Given the description of an element on the screen output the (x, y) to click on. 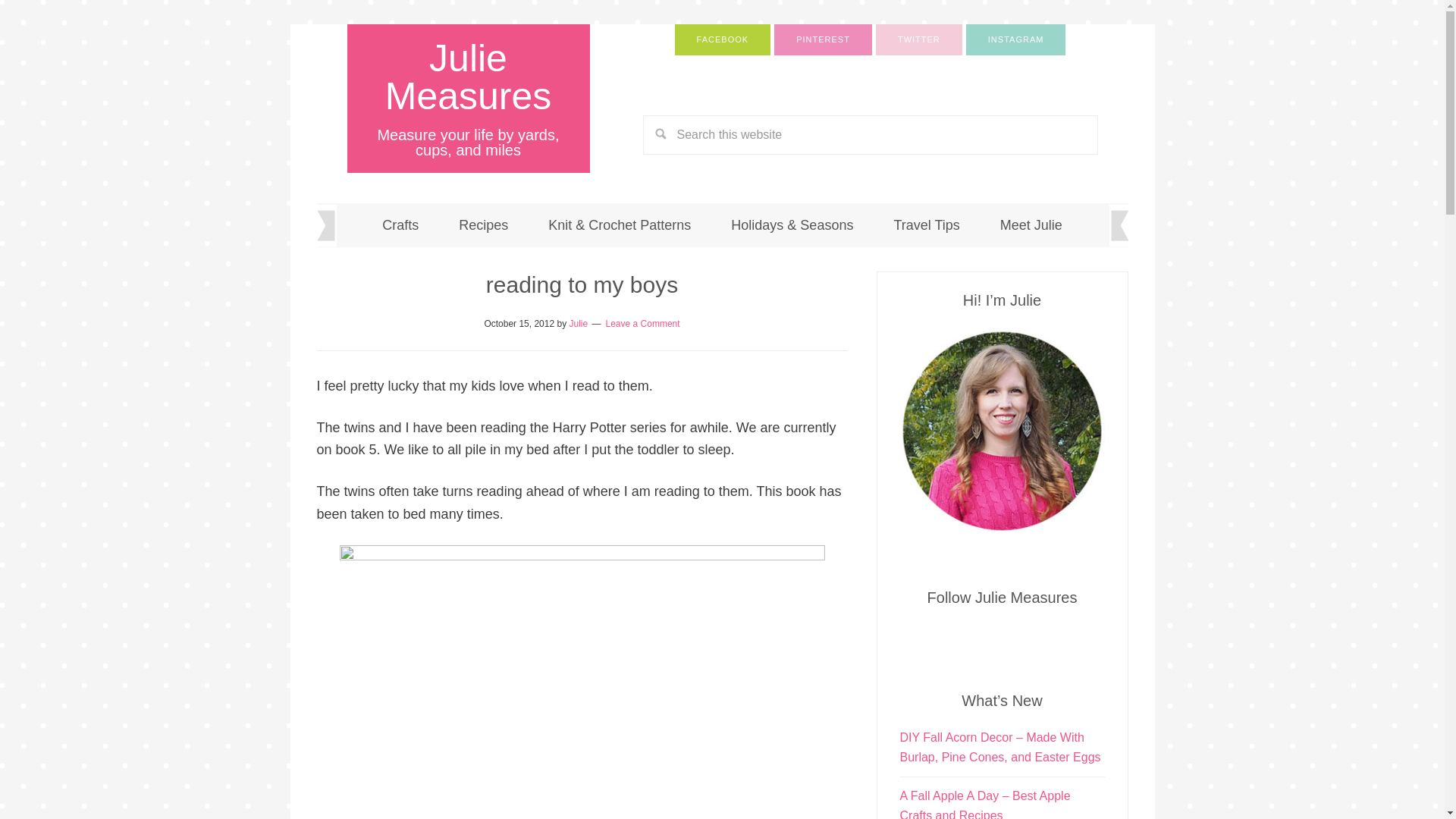
Crafts (400, 225)
Julie (578, 323)
Meet Julie (1030, 225)
INSTAGRAM (1015, 39)
TWITTER (919, 39)
FACEBOOK (723, 39)
Travel Tips (925, 225)
PINTEREST (823, 39)
